Given the description of an element on the screen output the (x, y) to click on. 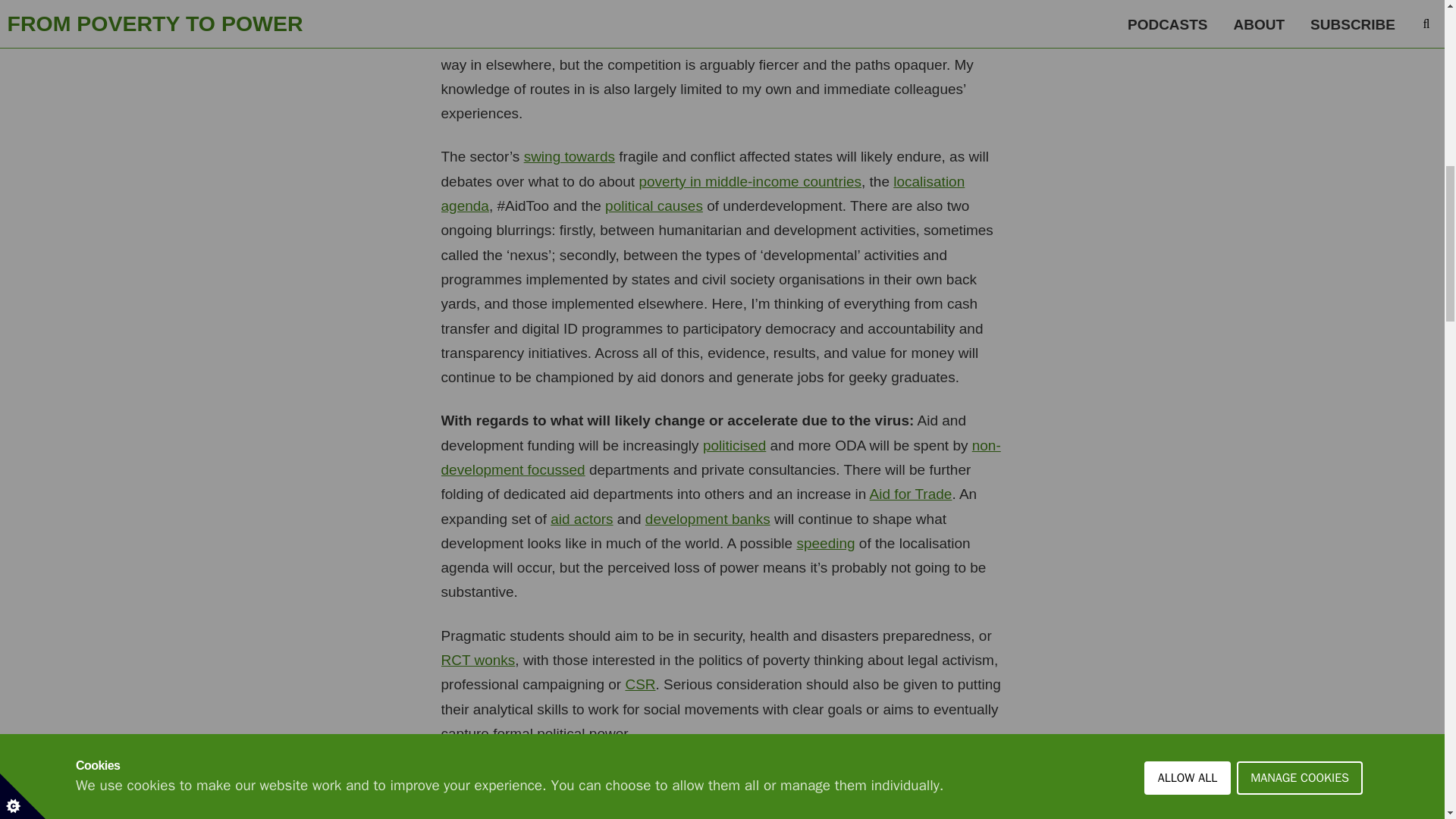
Aid for Trade (910, 494)
aid actors (581, 519)
speeding (825, 543)
poverty in middle-income countries (750, 181)
clear feedback loops (606, 801)
national interest (771, 801)
RCT wonks (478, 659)
non-development focussed (721, 457)
swing towards (569, 156)
localisation agenda (703, 193)
ALLOW ALL (1187, 24)
CSR (639, 684)
MANAGE COOKIES (1299, 12)
politicised (734, 445)
development banks (707, 519)
